Given the description of an element on the screen output the (x, y) to click on. 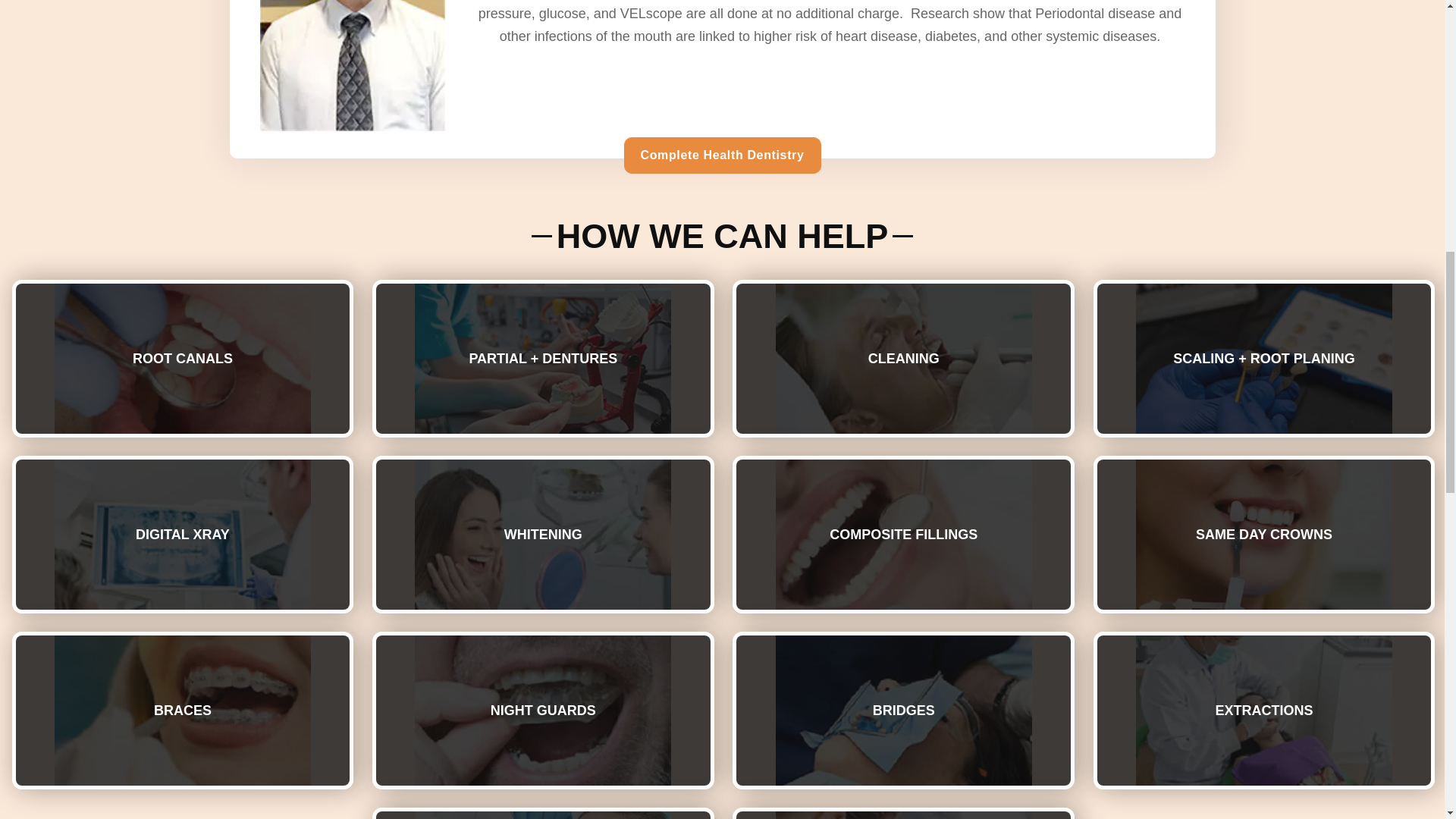
Complete Health Dentistry (722, 155)
ROOT CANALS (182, 358)
